Given the description of an element on the screen output the (x, y) to click on. 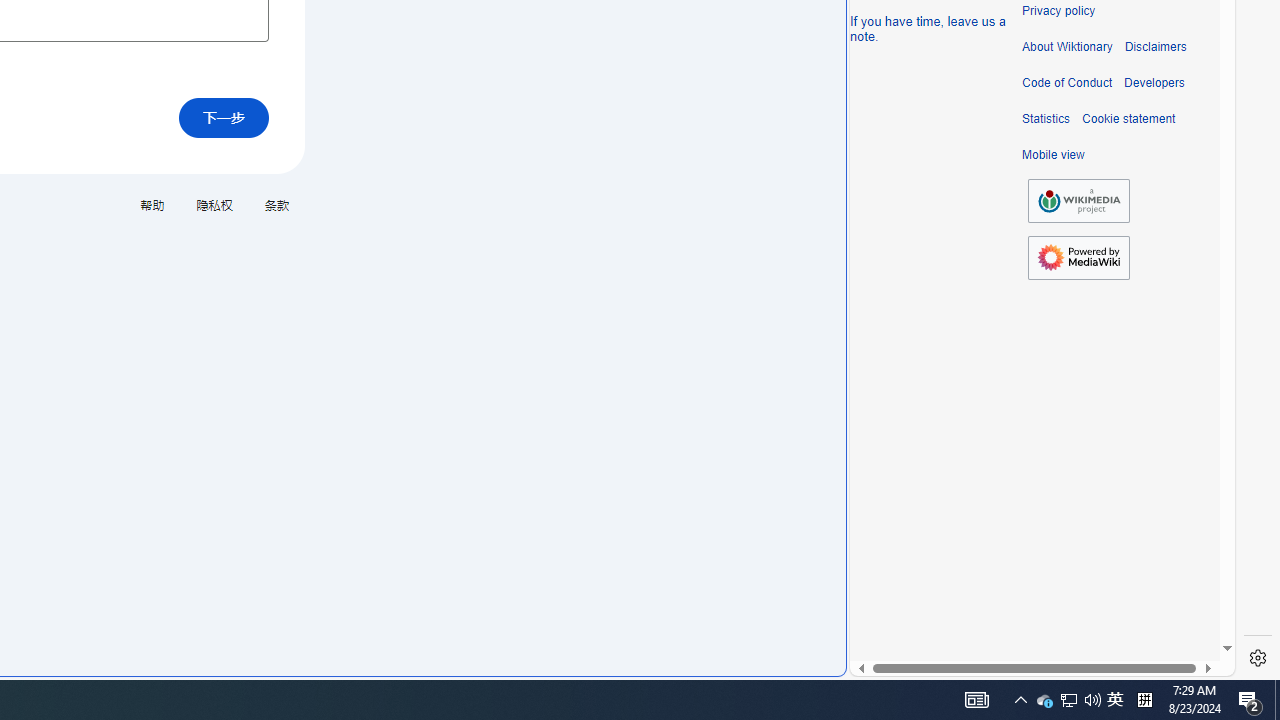
Wikimedia Foundation (1078, 200)
Developers (1154, 83)
Code of Conduct (1067, 83)
AutomationID: footer-poweredbyico (1078, 257)
Statistics (1046, 119)
Powered by MediaWiki (1078, 257)
